Given the description of an element on the screen output the (x, y) to click on. 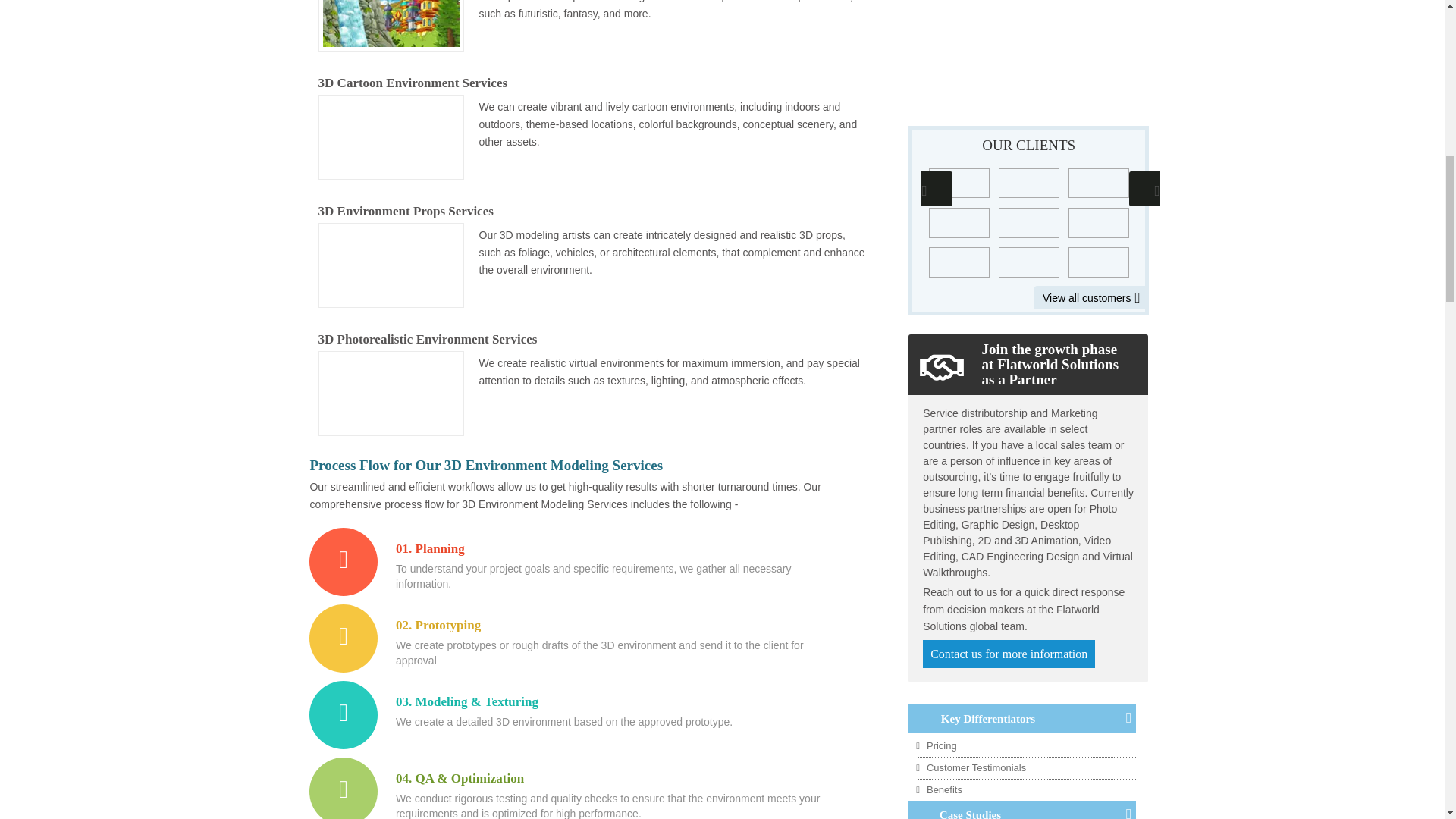
3D Photorealistic Environment Services (391, 393)
3D Environment Props Services (391, 264)
3D Stylized Environment Services (391, 25)
3D Cartoon Environment Services (391, 137)
